Given the description of an element on the screen output the (x, y) to click on. 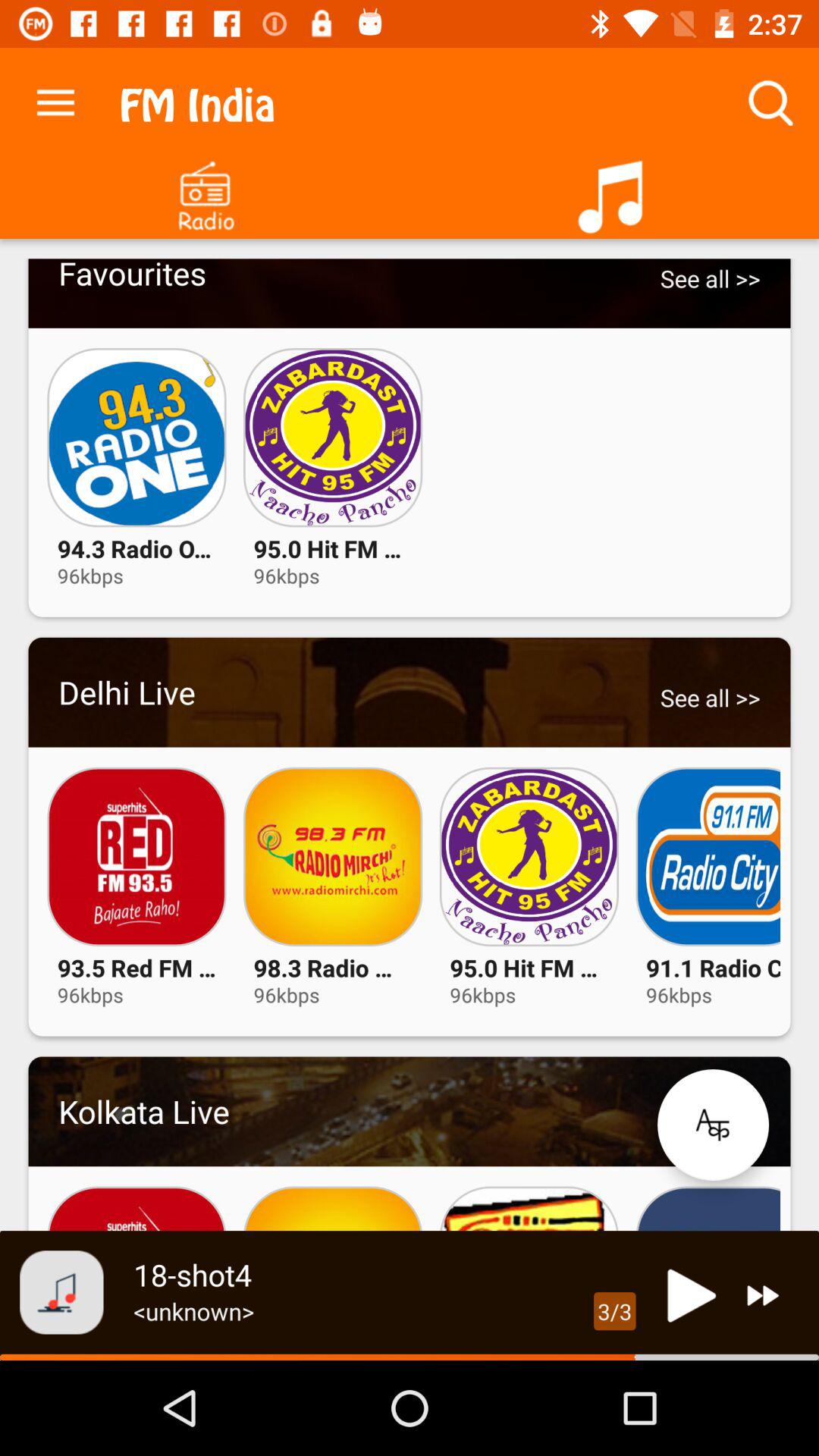
play current song (687, 1295)
